Given the description of an element on the screen output the (x, y) to click on. 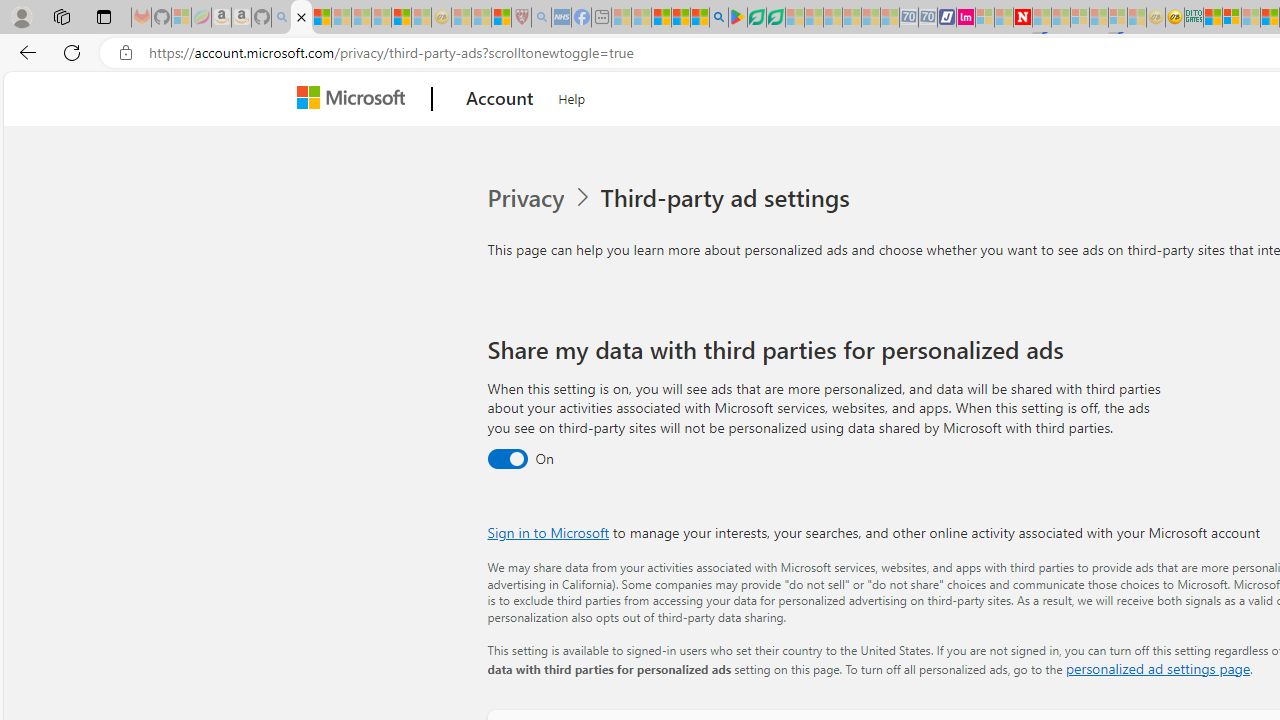
Jobs - lastminute.com Investor Portal (966, 17)
